Given the description of an element on the screen output the (x, y) to click on. 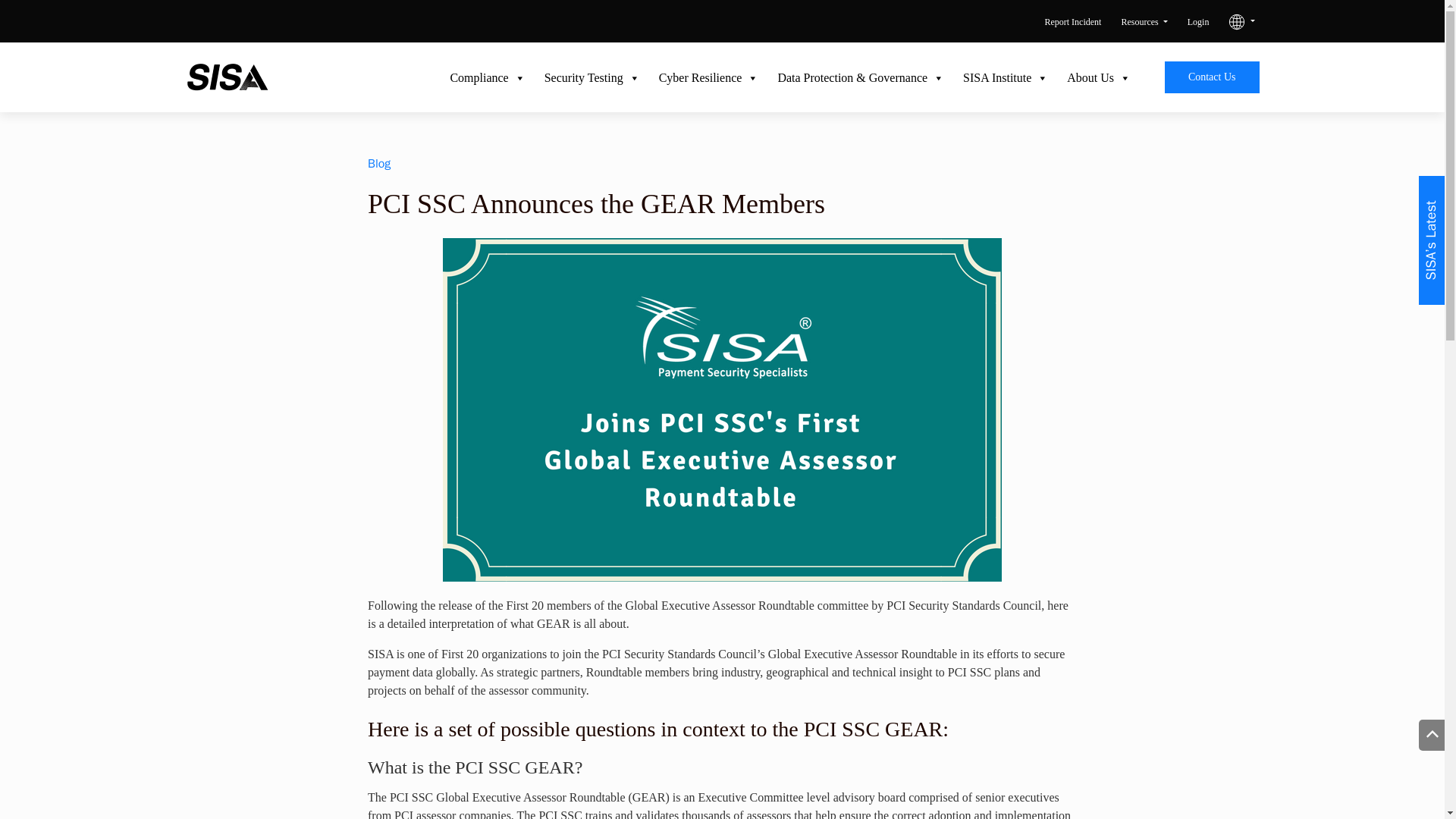
Security Testing (582, 78)
Report Incident (1071, 21)
Compliance (477, 78)
Login (1198, 21)
Resources (1144, 21)
SISA logo (226, 77)
Globe (1236, 21)
